Given the description of an element on the screen output the (x, y) to click on. 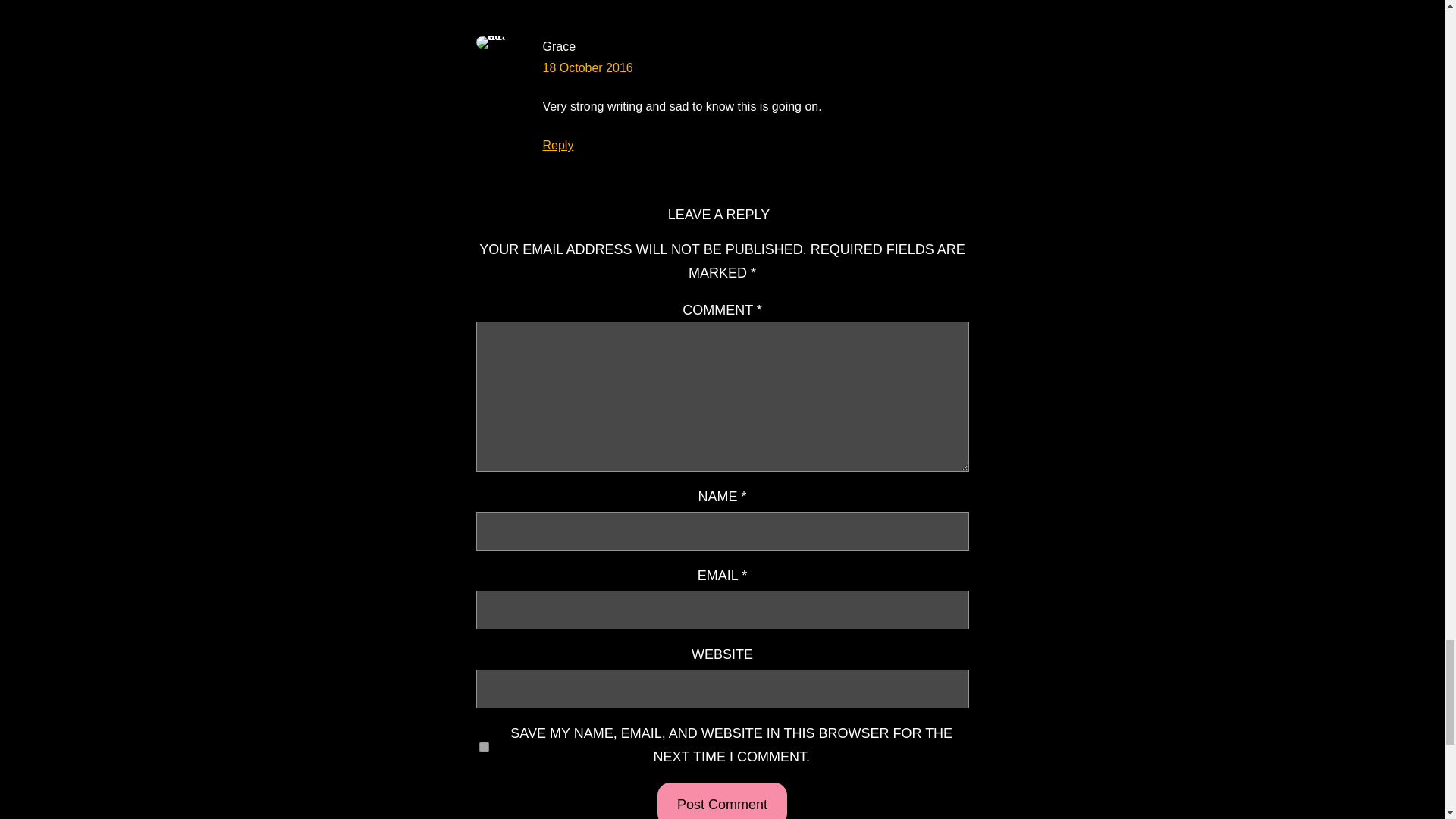
18 October 2016 (588, 67)
Post Comment (722, 800)
Post Comment (722, 800)
Reply (558, 144)
